Given the description of an element on the screen output the (x, y) to click on. 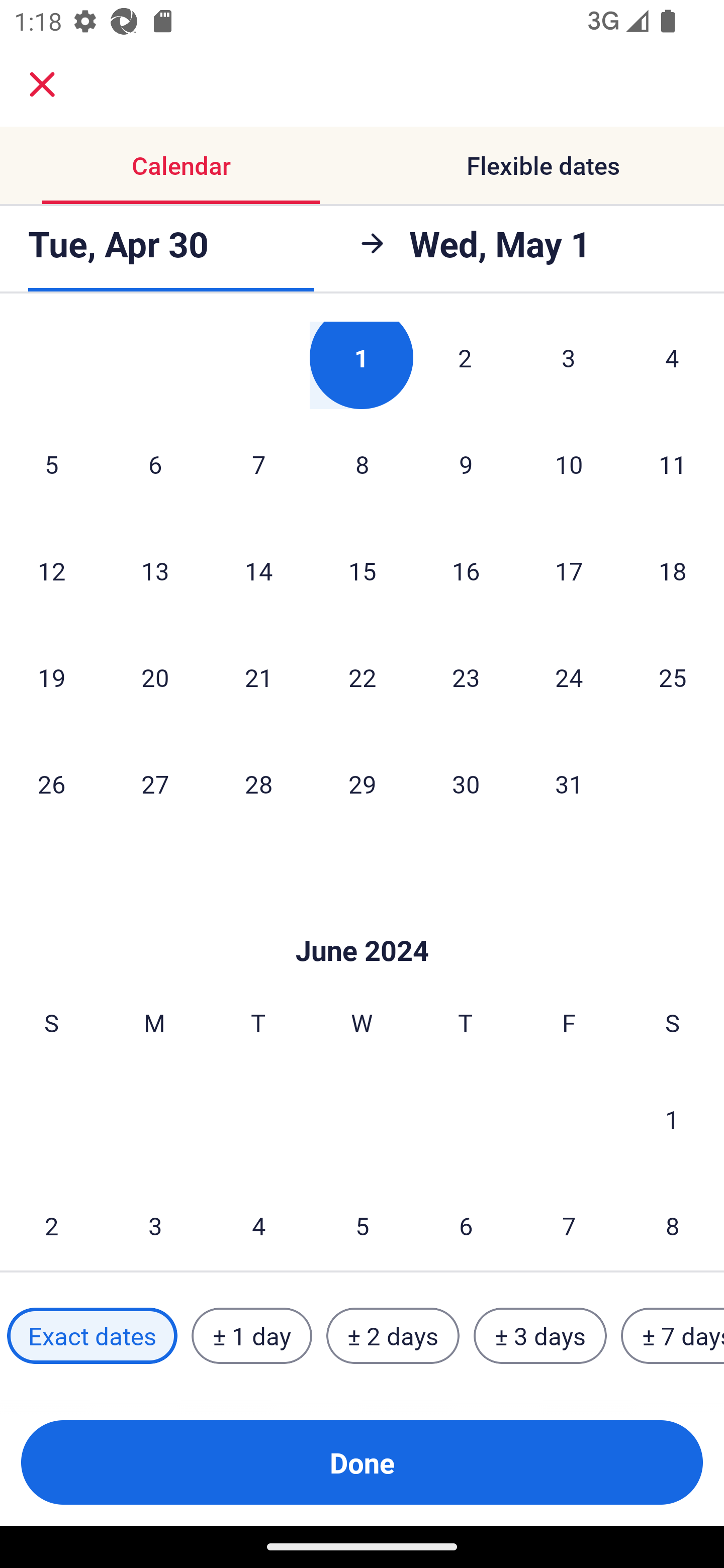
close. (42, 84)
Flexible dates (542, 164)
2 Thursday, May 2, 2024 (464, 365)
3 Friday, May 3, 2024 (568, 365)
4 Saturday, May 4, 2024 (672, 365)
5 Sunday, May 5, 2024 (51, 463)
6 Monday, May 6, 2024 (155, 463)
7 Tuesday, May 7, 2024 (258, 463)
8 Wednesday, May 8, 2024 (362, 463)
9 Thursday, May 9, 2024 (465, 463)
10 Friday, May 10, 2024 (569, 463)
11 Saturday, May 11, 2024 (672, 463)
12 Sunday, May 12, 2024 (51, 570)
13 Monday, May 13, 2024 (155, 570)
14 Tuesday, May 14, 2024 (258, 570)
15 Wednesday, May 15, 2024 (362, 570)
16 Thursday, May 16, 2024 (465, 570)
17 Friday, May 17, 2024 (569, 570)
18 Saturday, May 18, 2024 (672, 570)
19 Sunday, May 19, 2024 (51, 677)
20 Monday, May 20, 2024 (155, 677)
21 Tuesday, May 21, 2024 (258, 677)
22 Wednesday, May 22, 2024 (362, 677)
23 Thursday, May 23, 2024 (465, 677)
24 Friday, May 24, 2024 (569, 677)
25 Saturday, May 25, 2024 (672, 677)
26 Sunday, May 26, 2024 (51, 783)
27 Monday, May 27, 2024 (155, 783)
28 Tuesday, May 28, 2024 (258, 783)
29 Wednesday, May 29, 2024 (362, 783)
30 Thursday, May 30, 2024 (465, 783)
31 Friday, May 31, 2024 (569, 783)
Skip to Done (362, 920)
1 Saturday, June 1, 2024 (672, 1118)
2 Sunday, June 2, 2024 (51, 1222)
3 Monday, June 3, 2024 (155, 1222)
4 Tuesday, June 4, 2024 (258, 1222)
5 Wednesday, June 5, 2024 (362, 1222)
6 Thursday, June 6, 2024 (465, 1222)
7 Friday, June 7, 2024 (569, 1222)
8 Saturday, June 8, 2024 (672, 1222)
Exact dates (92, 1335)
± 1 day (251, 1335)
± 2 days (392, 1335)
± 3 days (539, 1335)
± 7 days (672, 1335)
Done (361, 1462)
